Given the description of an element on the screen output the (x, y) to click on. 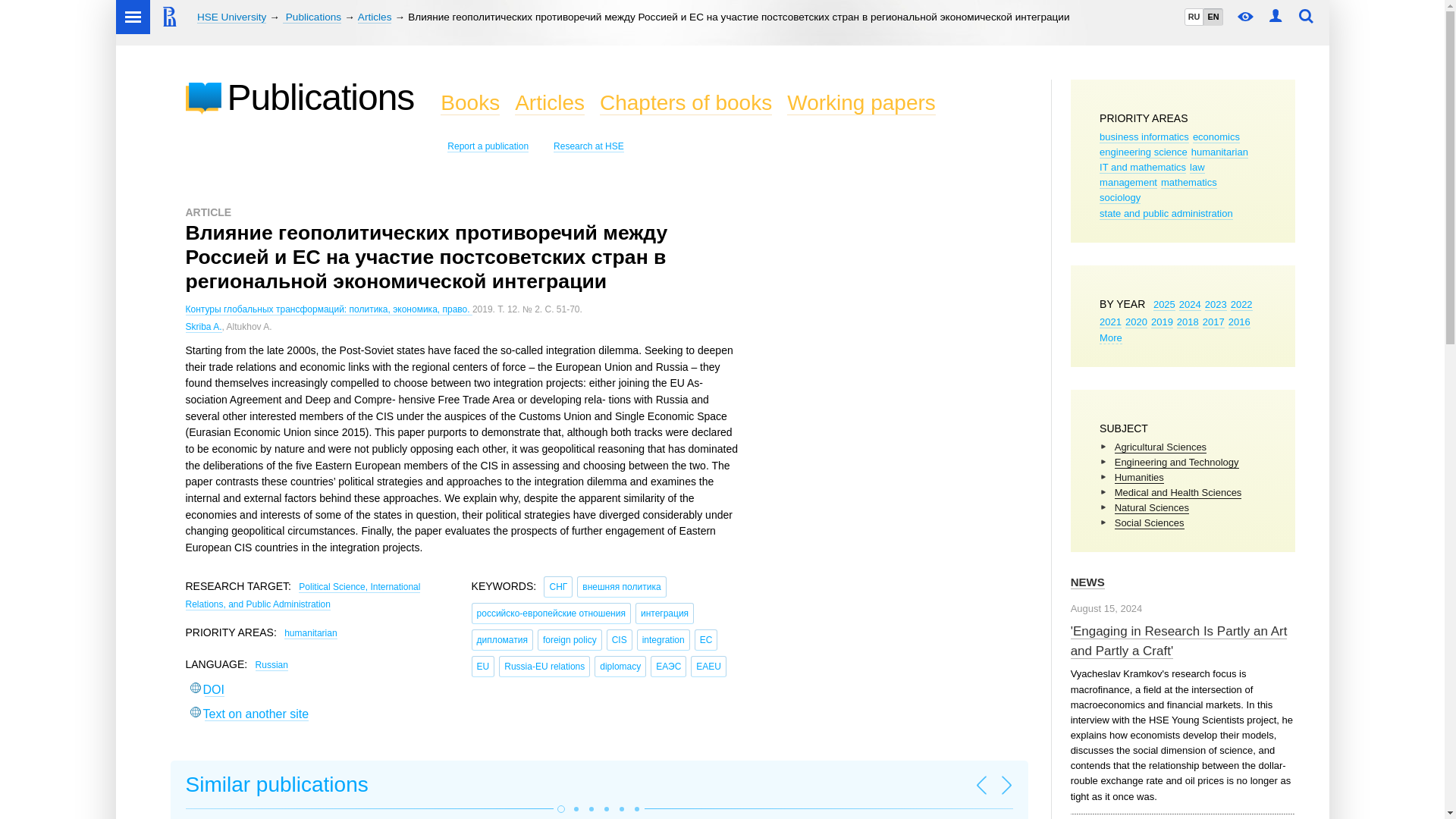
engineering science (1143, 152)
2016 (1239, 322)
economics (1216, 137)
2018 (1187, 322)
Articles (374, 17)
RU (1194, 17)
HSE University (231, 17)
2020 (1136, 322)
2021 (1110, 322)
2019 (1162, 322)
